Given the description of an element on the screen output the (x, y) to click on. 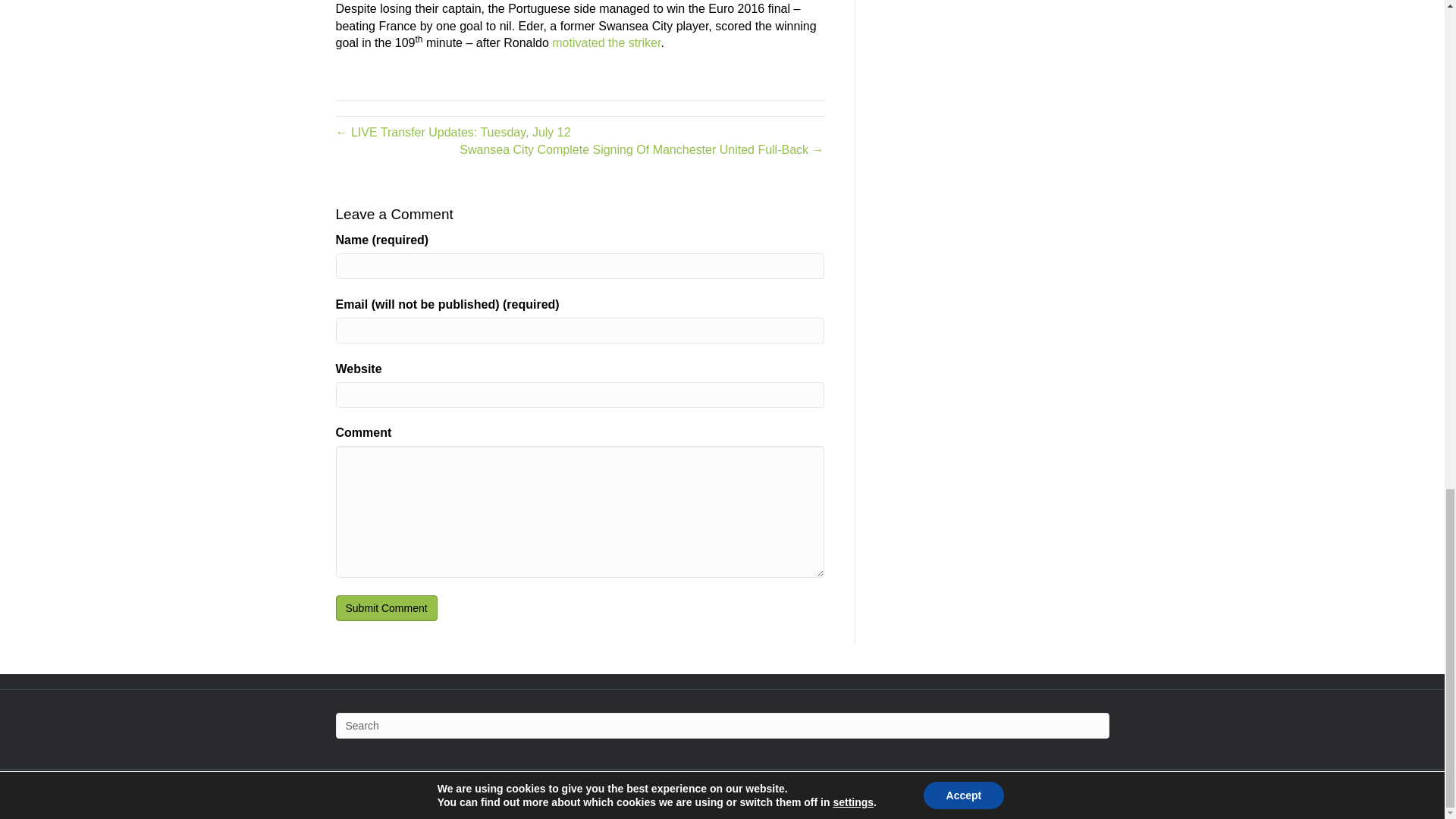
Search (721, 725)
Search (721, 725)
Submit Comment (385, 607)
Type and press Enter to search. (721, 725)
